Given the description of an element on the screen output the (x, y) to click on. 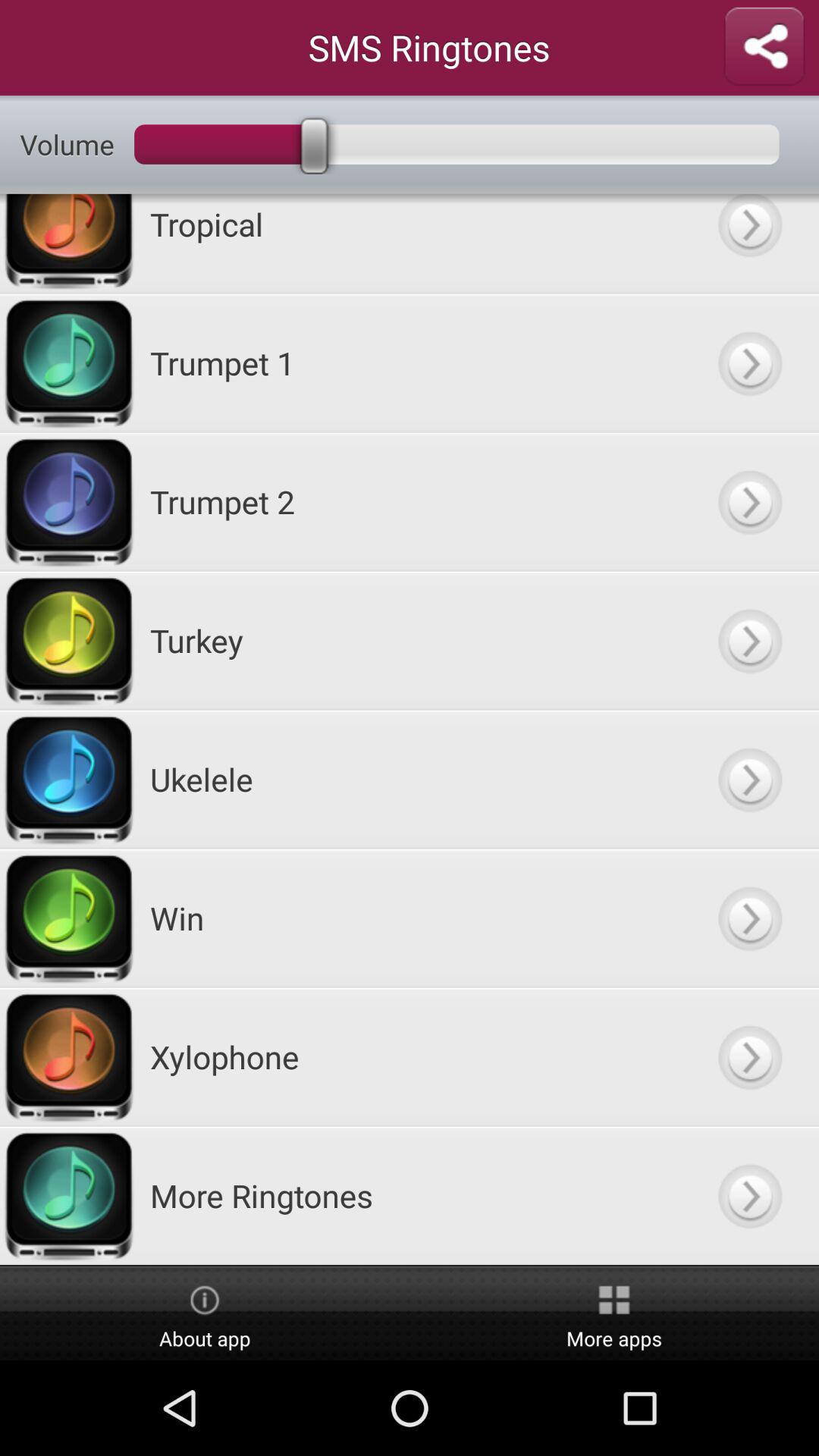
go to next page (749, 1195)
